Given the description of an element on the screen output the (x, y) to click on. 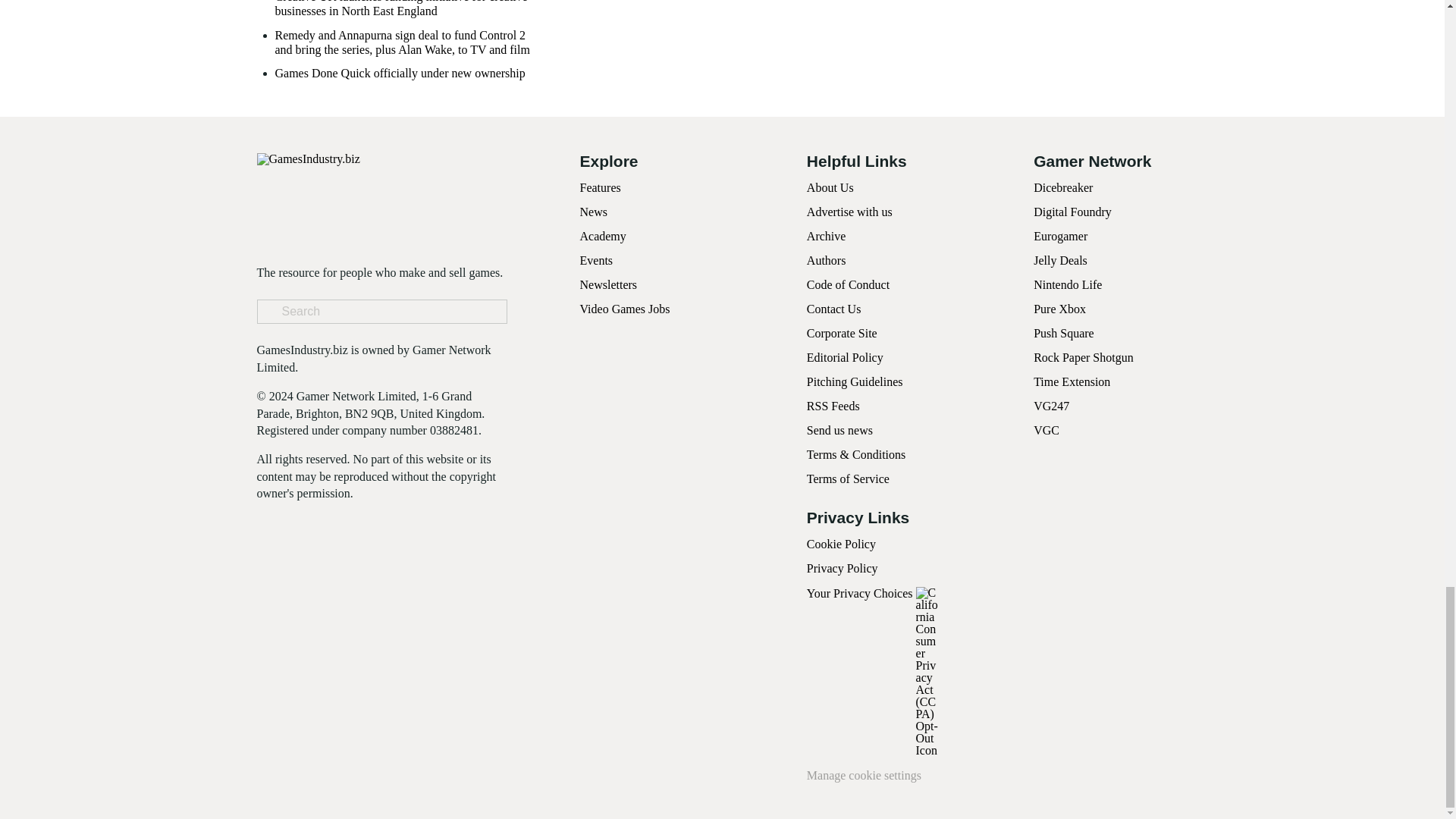
Events (595, 259)
Video Games Jobs (624, 308)
News (593, 211)
About Us (829, 187)
Newsletters (608, 284)
Academy (602, 236)
Features (599, 187)
